Given the description of an element on the screen output the (x, y) to click on. 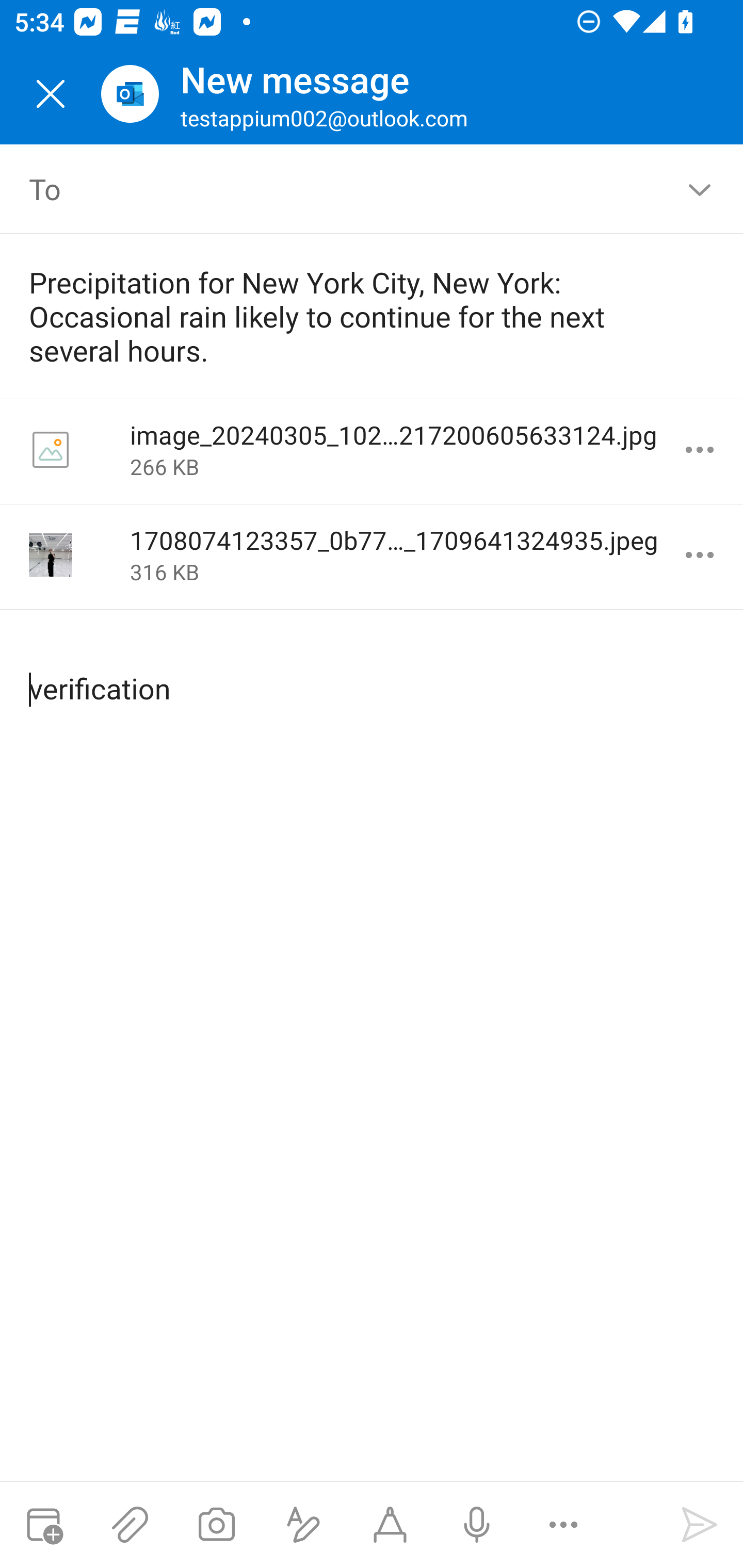
Close (50, 93)
More options (699, 449)
More options (699, 554)

verification (372, 671)
Attach meeting (43, 1524)
Attach files (129, 1524)
Take a photo (216, 1524)
Show formatting options (303, 1524)
Start Ink compose (389, 1524)
Dictation (476, 1524)
More options (563, 1524)
Send (699, 1524)
